Given the description of an element on the screen output the (x, y) to click on. 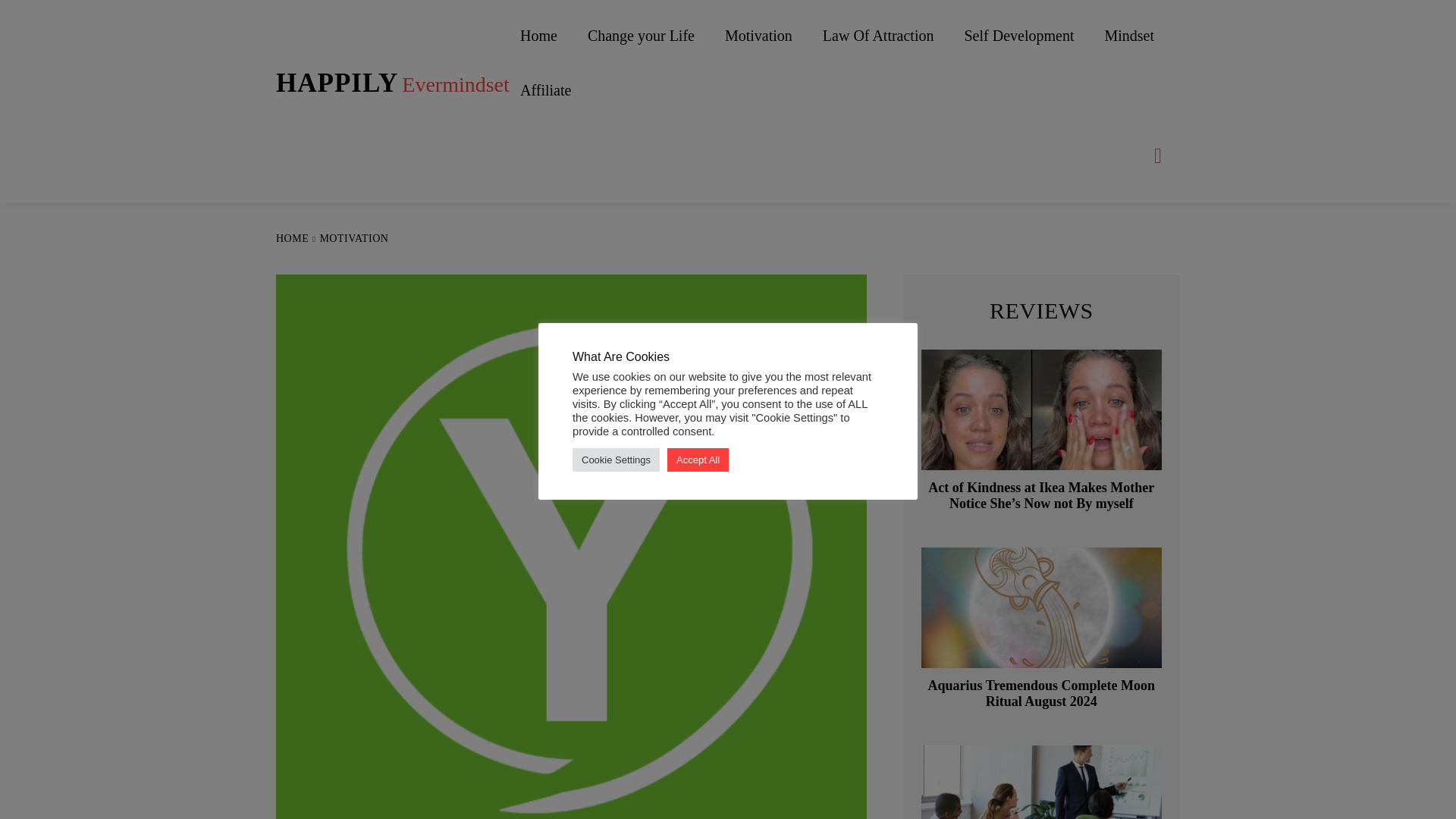
Mindset (1129, 35)
Motivation (759, 35)
Home (538, 35)
Law Of Attraction (878, 35)
Change your Life (641, 35)
Affiliate (392, 83)
View all posts in Motivation (545, 90)
Aquarius Tremendous Complete Moon Ritual August 2024 (353, 238)
